Given the description of an element on the screen output the (x, y) to click on. 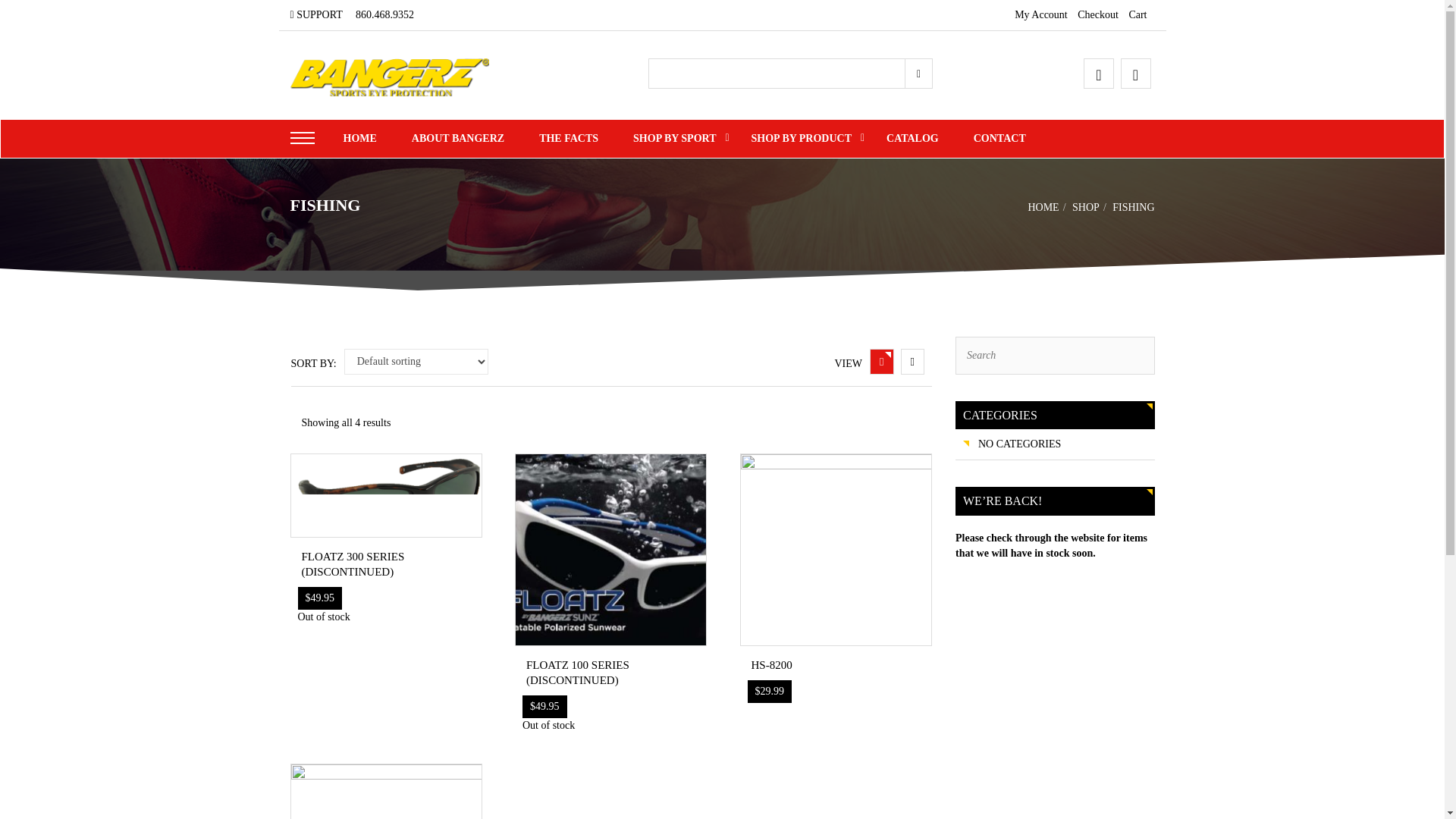
My Account (1040, 14)
Checkout (1097, 14)
pixtheme (389, 75)
860.468.9352 (384, 14)
Cart (1137, 14)
